Given the description of an element on the screen output the (x, y) to click on. 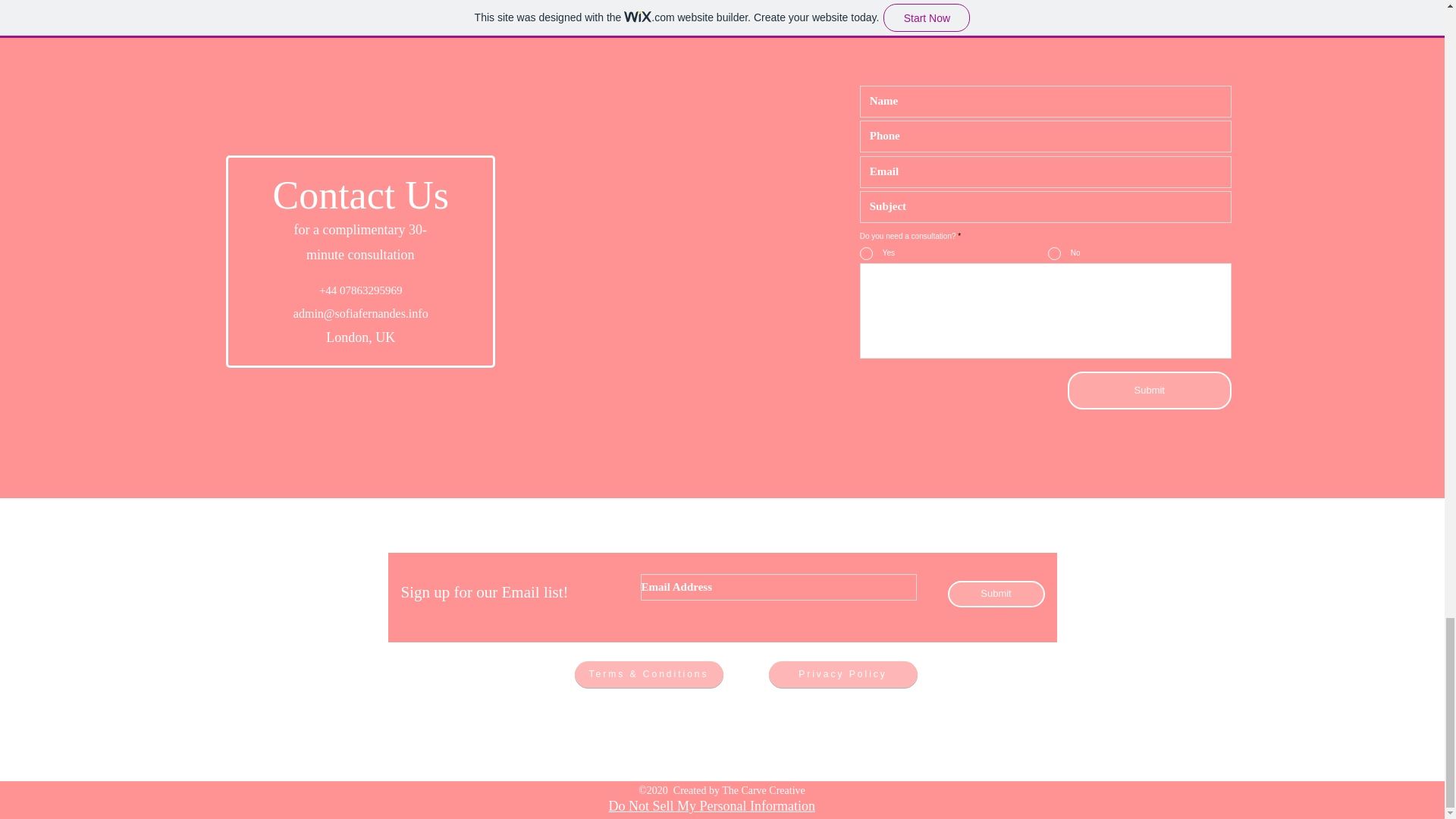
The Carve Creative (763, 790)
Submit (1149, 390)
Privacy Policy (842, 673)
Submit (996, 593)
